Given the description of an element on the screen output the (x, y) to click on. 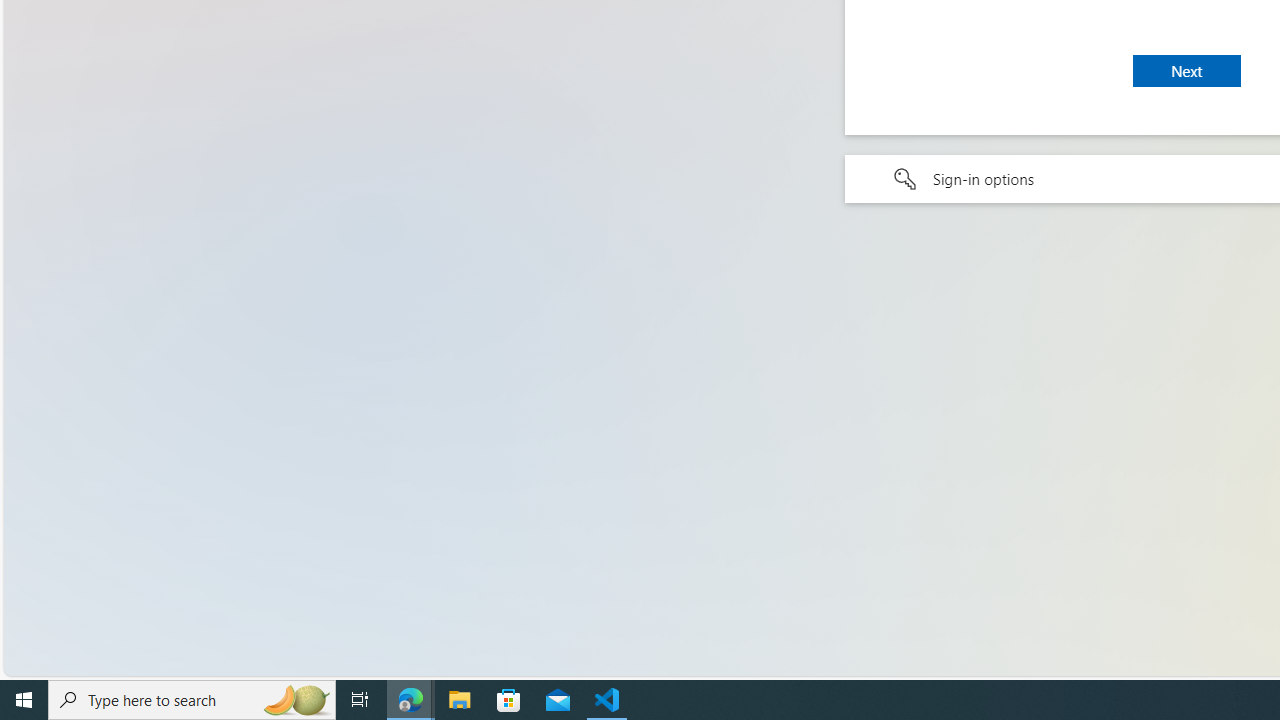
Next (1186, 70)
